Given the description of an element on the screen output the (x, y) to click on. 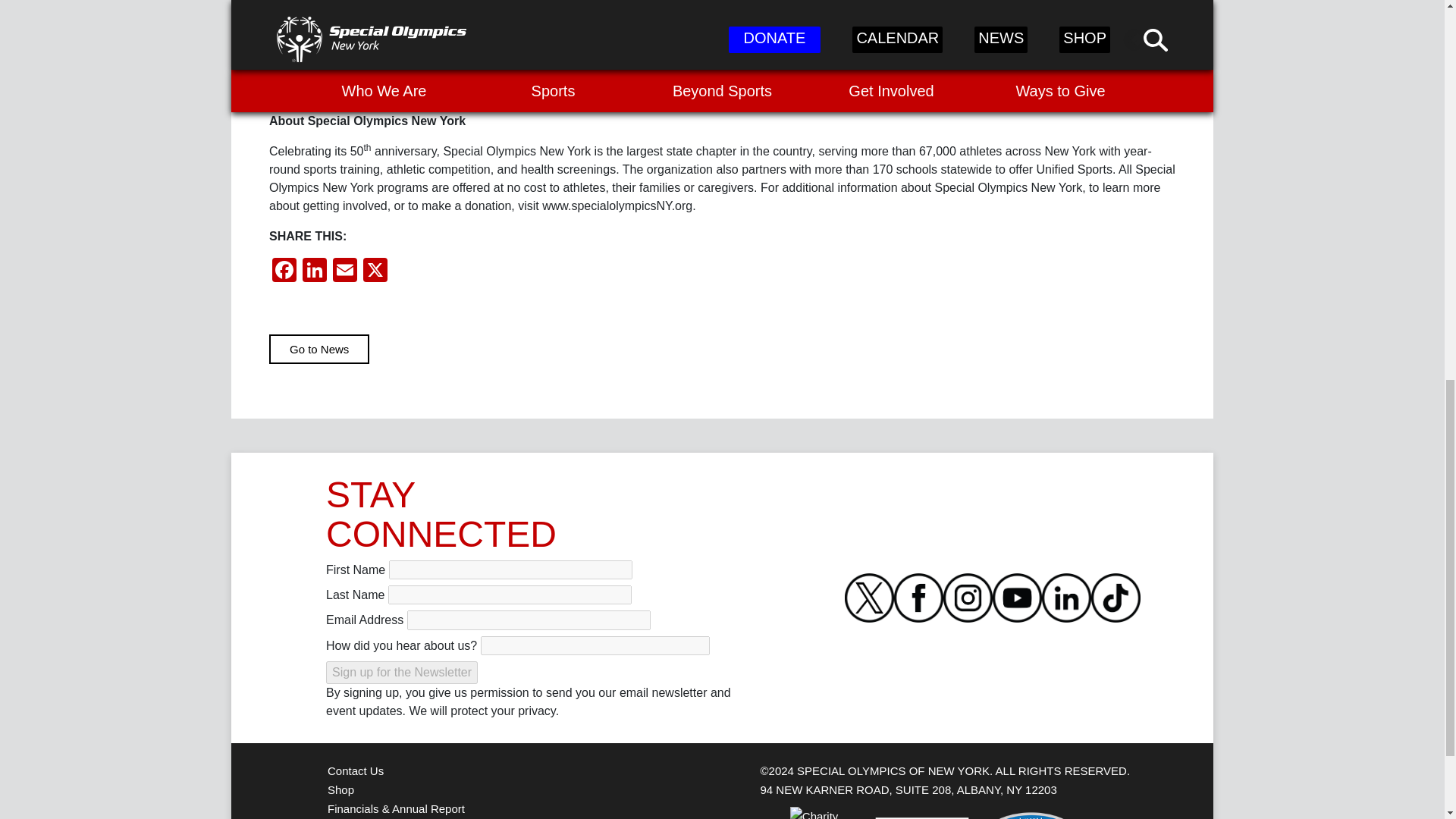
Email (344, 271)
X (374, 271)
Facebook (284, 271)
Sign up for the Newsletter (401, 671)
LinkedIn (314, 271)
